Given the description of an element on the screen output the (x, y) to click on. 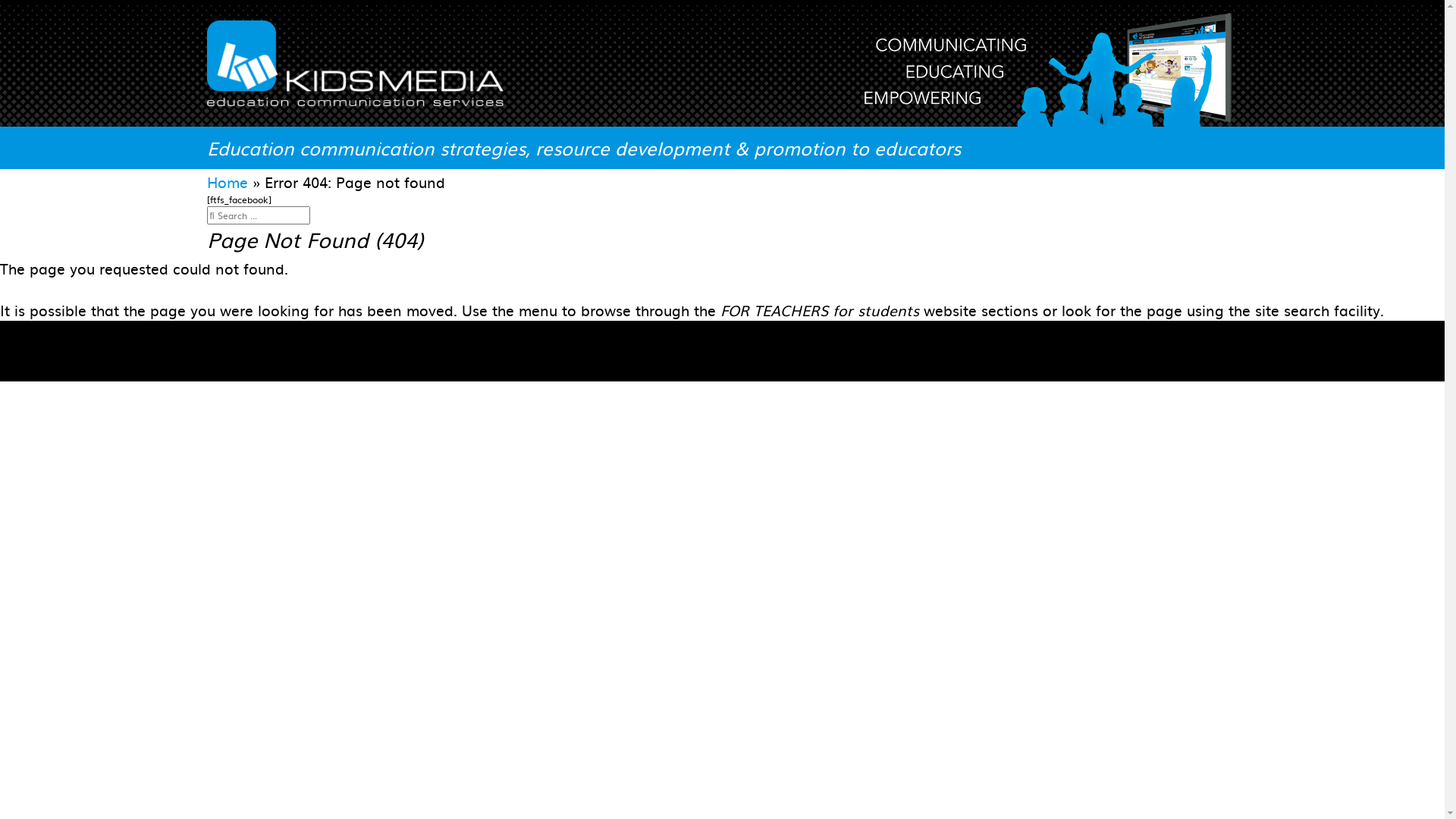
Skip to content Element type: text (0, 0)
Search Element type: text (315, 208)
Home Element type: text (226, 181)
